Given the description of an element on the screen output the (x, y) to click on. 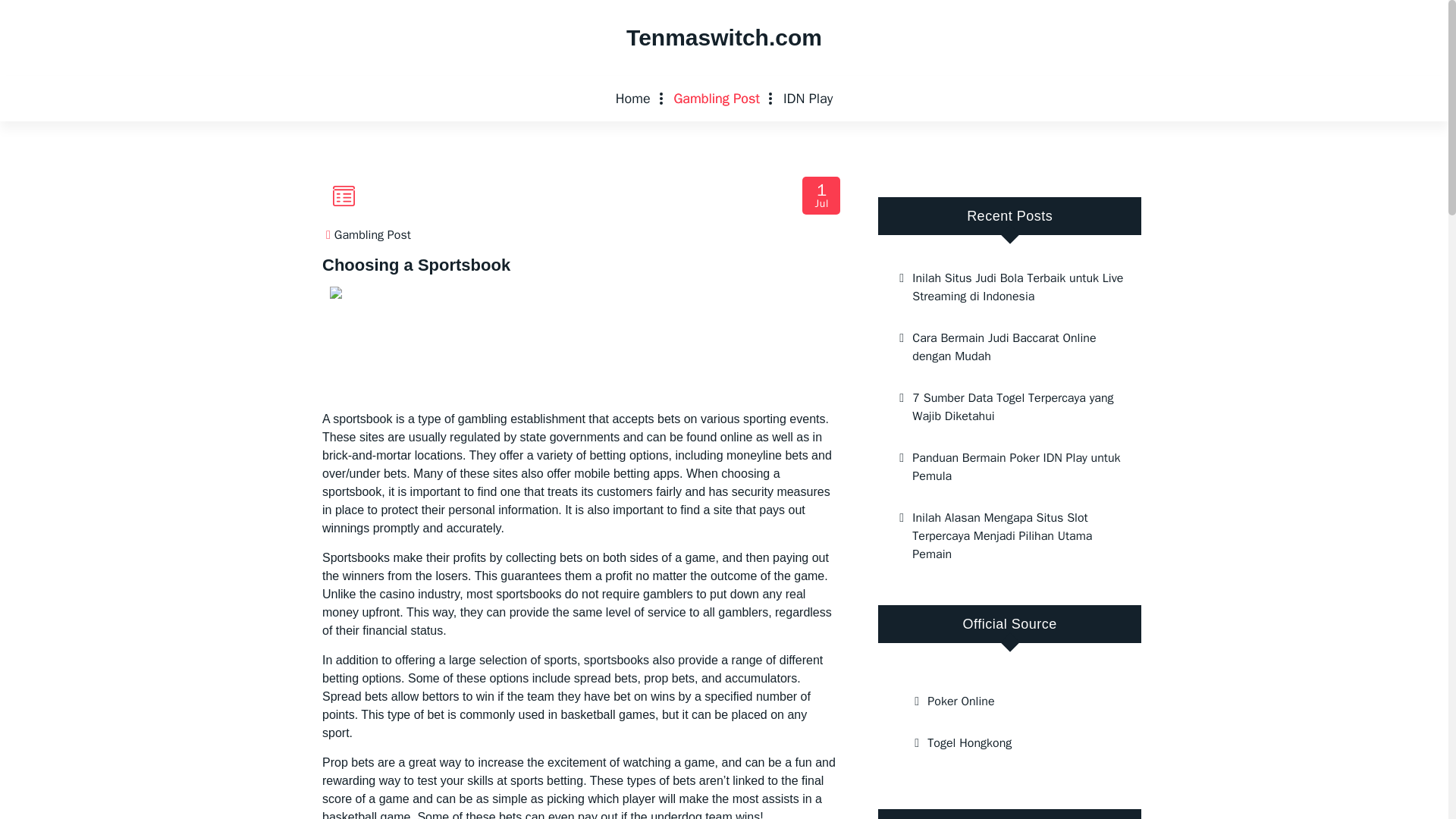
Cara Bermain Judi Baccarat Online dengan Mudah (1009, 346)
IDN Play (807, 98)
Togel Hongkong (1009, 742)
IDN Play (807, 98)
Poker Online (1009, 700)
Gambling Post (716, 98)
Gambling Post (716, 98)
Home (633, 98)
